Given the description of an element on the screen output the (x, y) to click on. 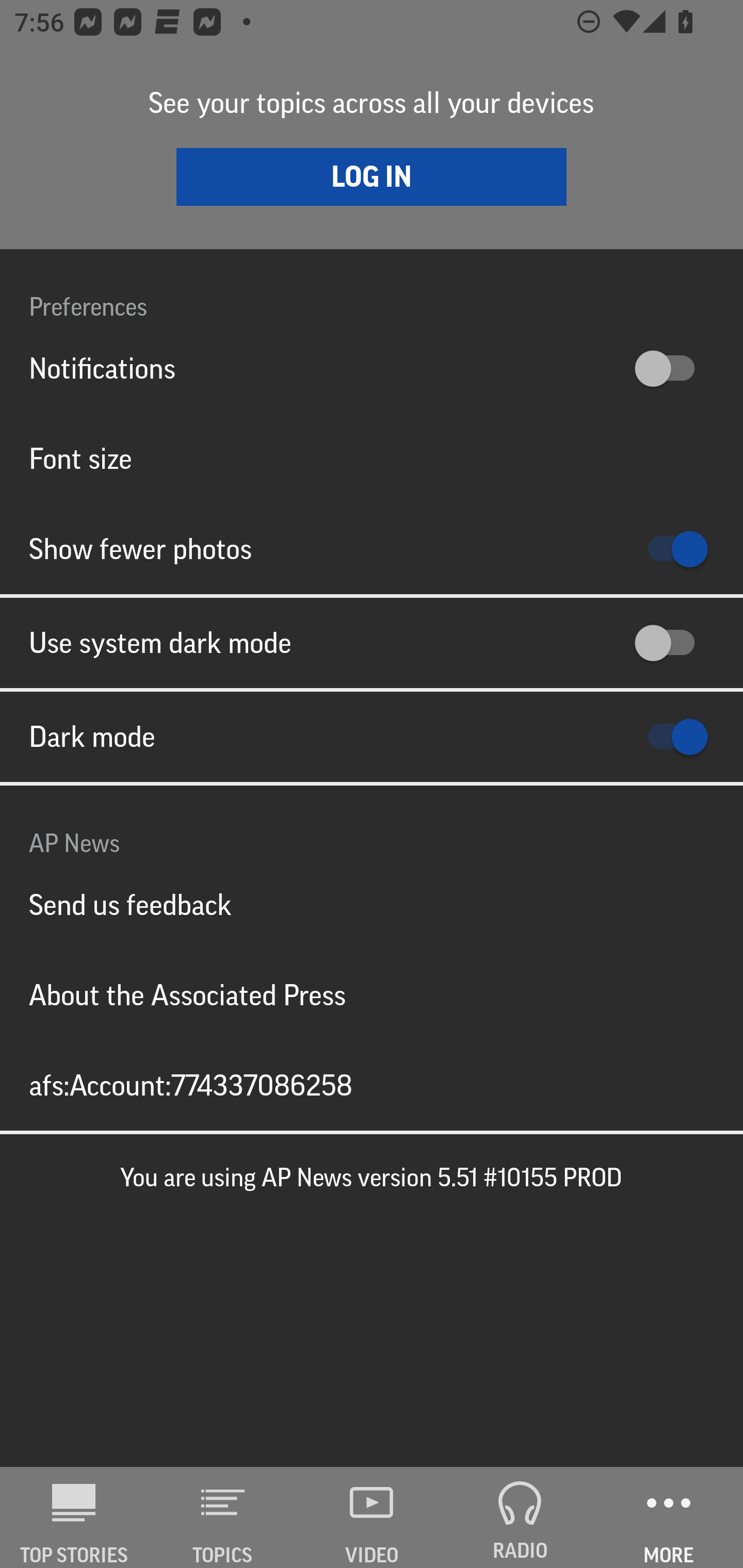
LOG IN (371, 176)
Notifications (371, 368)
Font size (371, 458)
Show fewer photos (371, 548)
Use system dark mode (371, 642)
Dark mode (371, 736)
Send us feedback (371, 904)
About the Associated Press (371, 994)
afs:Account:774337086258 (371, 1084)
AP News TOP STORIES (74, 1517)
TOPICS (222, 1517)
VIDEO (371, 1517)
RADIO (519, 1517)
MORE (668, 1517)
